Given the description of an element on the screen output the (x, y) to click on. 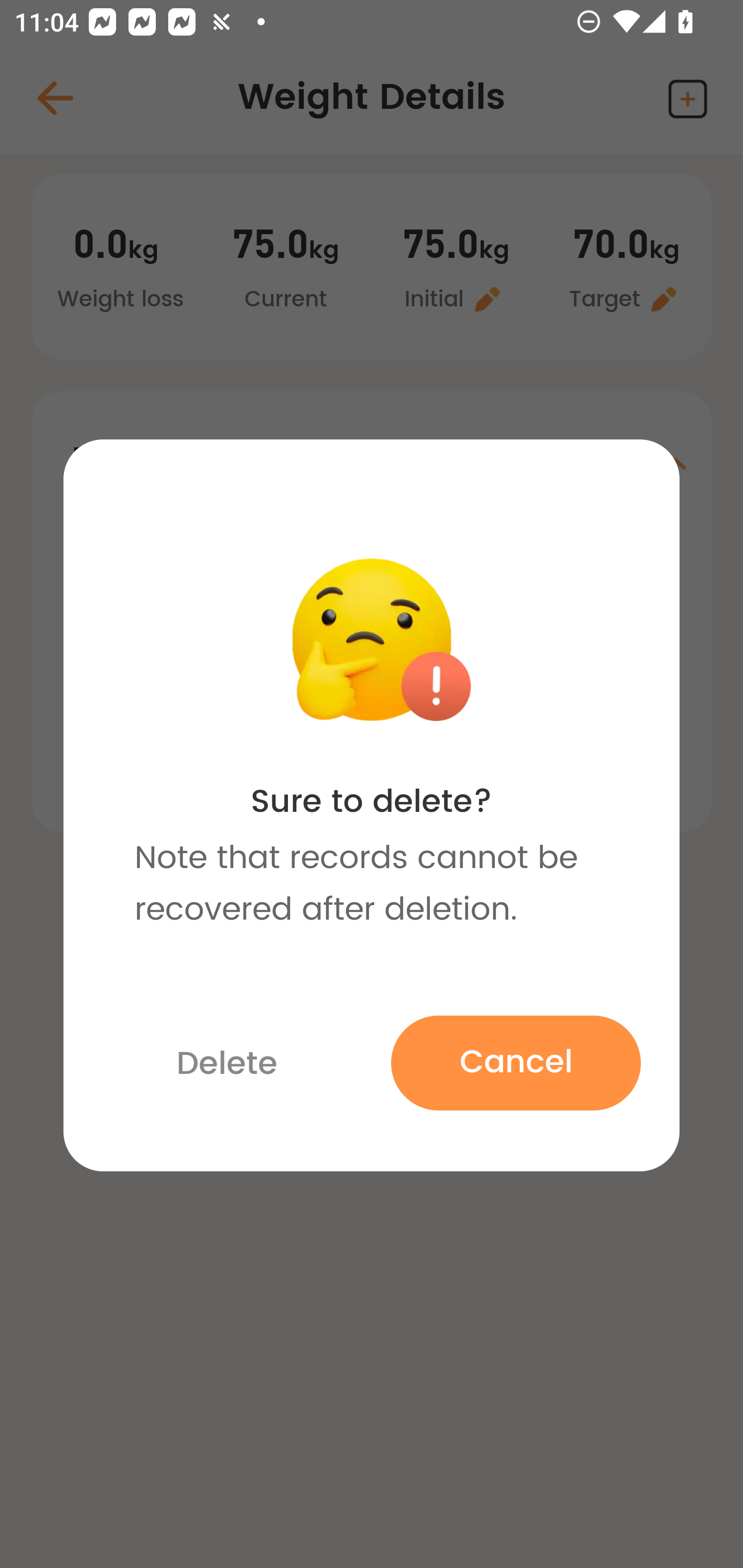
Cancel (515, 1063)
Delete (227, 1064)
